Given the description of an element on the screen output the (x, y) to click on. 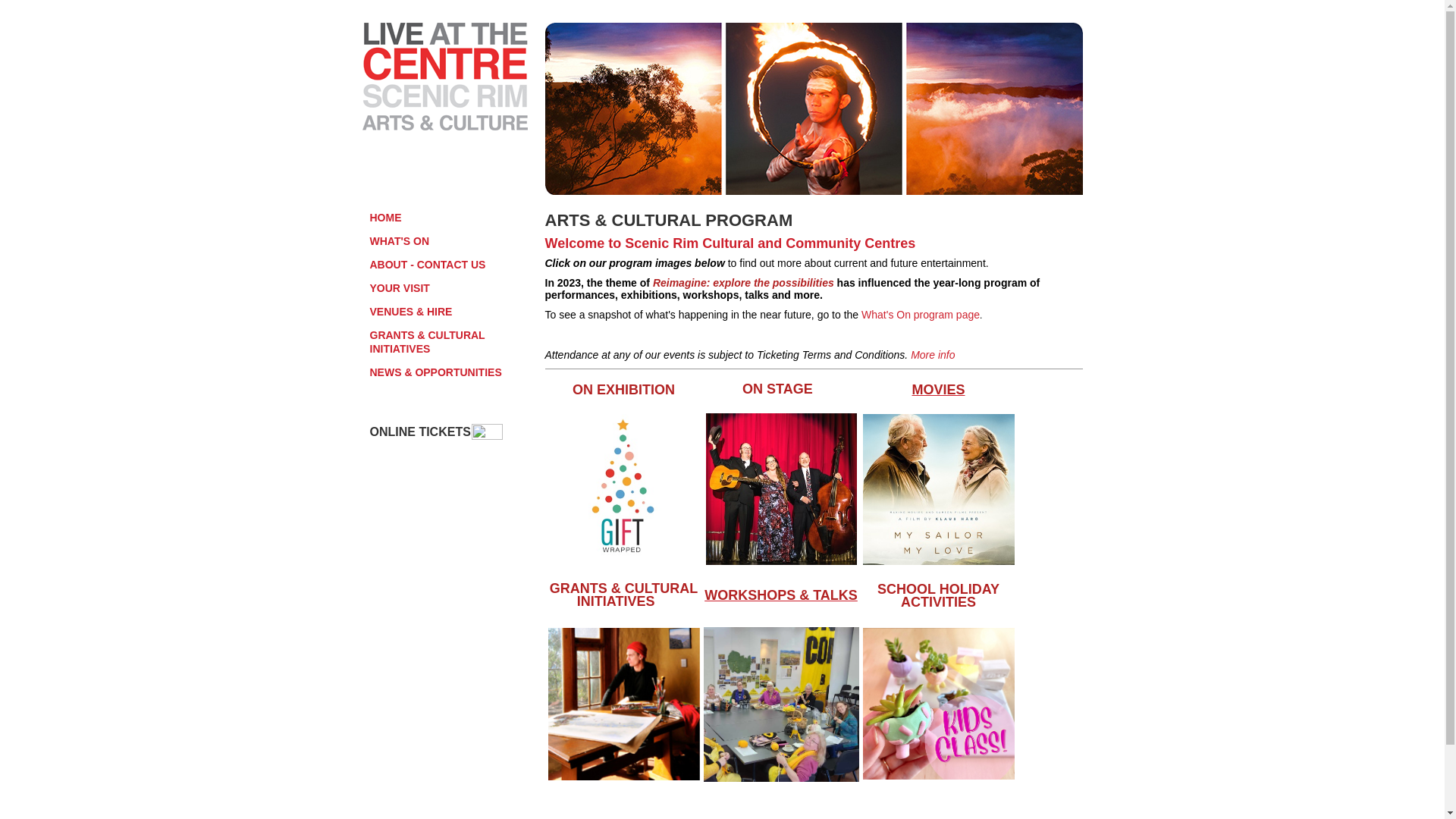
ON EXHIBITION Element type: text (623, 390)
HOME Element type: text (451, 217)
SCHOOL HOLIDAY ACTIVITIES Element type: text (938, 596)
NEWS & OPPORTUNITIES Element type: text (451, 372)
VENUES & HIRE Element type: text (451, 311)
YOUR VISIT Element type: text (451, 287)
More info Element type: text (932, 354)
GRANTS & CULTURAL INITIATIVES Element type: text (451, 341)
MOVIES Element type: text (937, 390)
WORKSHOPS & TALKS Element type: text (780, 594)
ON STAGE  Element type: text (779, 388)
ABOUT - CONTACT US Element type: text (451, 264)
WHAT'S ON Element type: text (451, 240)
GRANTS & CULTURAL INITIATIVES Element type: text (623, 596)
What's On program page Element type: text (920, 314)
